Given the description of an element on the screen output the (x, y) to click on. 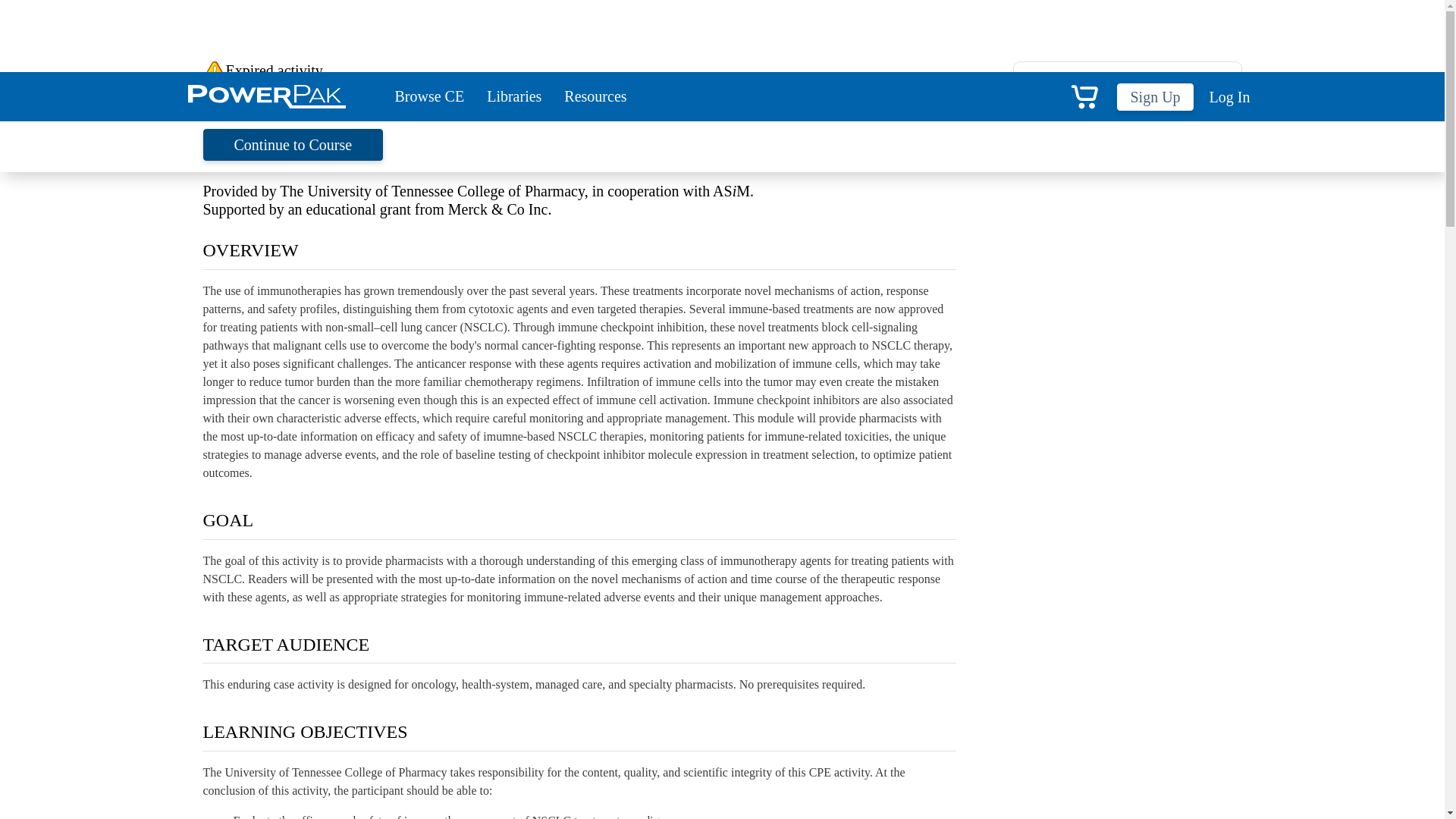
Browse CE (430, 96)
Continue to Course (293, 144)
Log In (1226, 96)
Latest News (1127, 240)
Cart (1083, 96)
homepage (359, 94)
Sign Up (1154, 96)
View State Requirements (1092, 81)
